Given the description of an element on the screen output the (x, y) to click on. 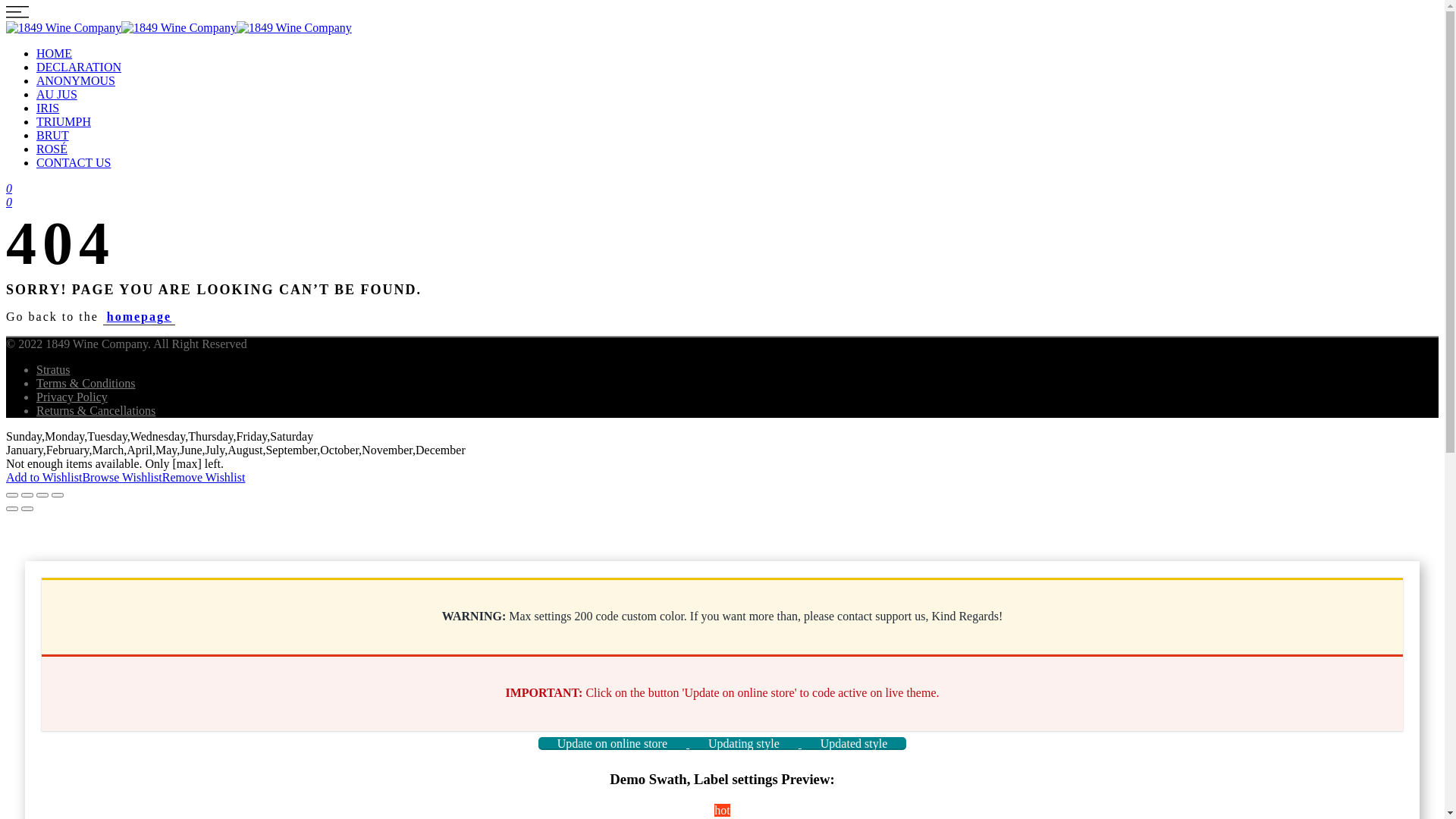
CONTACT US Element type: text (73, 162)
Terms & Conditions Element type: text (85, 382)
Next (arrow right) Element type: hover (27, 508)
Add to WishlistBrowse WishlistRemove Wishlist Element type: text (125, 476)
Zoom in/out Element type: hover (57, 494)
Returns & Cancellations Element type: text (95, 410)
Privacy Policy Element type: text (71, 396)
BRUT Element type: text (52, 134)
Stratus Element type: text (52, 369)
Previous (arrow left) Element type: hover (12, 508)
AU JUS Element type: text (56, 93)
Toggle fullscreen Element type: hover (42, 494)
homepage Element type: text (139, 316)
IRIS Element type: text (47, 107)
TRIUMPH Element type: text (63, 121)
ANONYMOUS Element type: text (75, 80)
0 Element type: text (9, 201)
DECLARATION Element type: text (78, 66)
HOME Element type: text (54, 53)
0 Element type: text (9, 188)
Close (Esc) Element type: hover (12, 494)
Update on online store Updating style Updated style Element type: text (722, 743)
Share Element type: hover (27, 494)
